Given the description of an element on the screen output the (x, y) to click on. 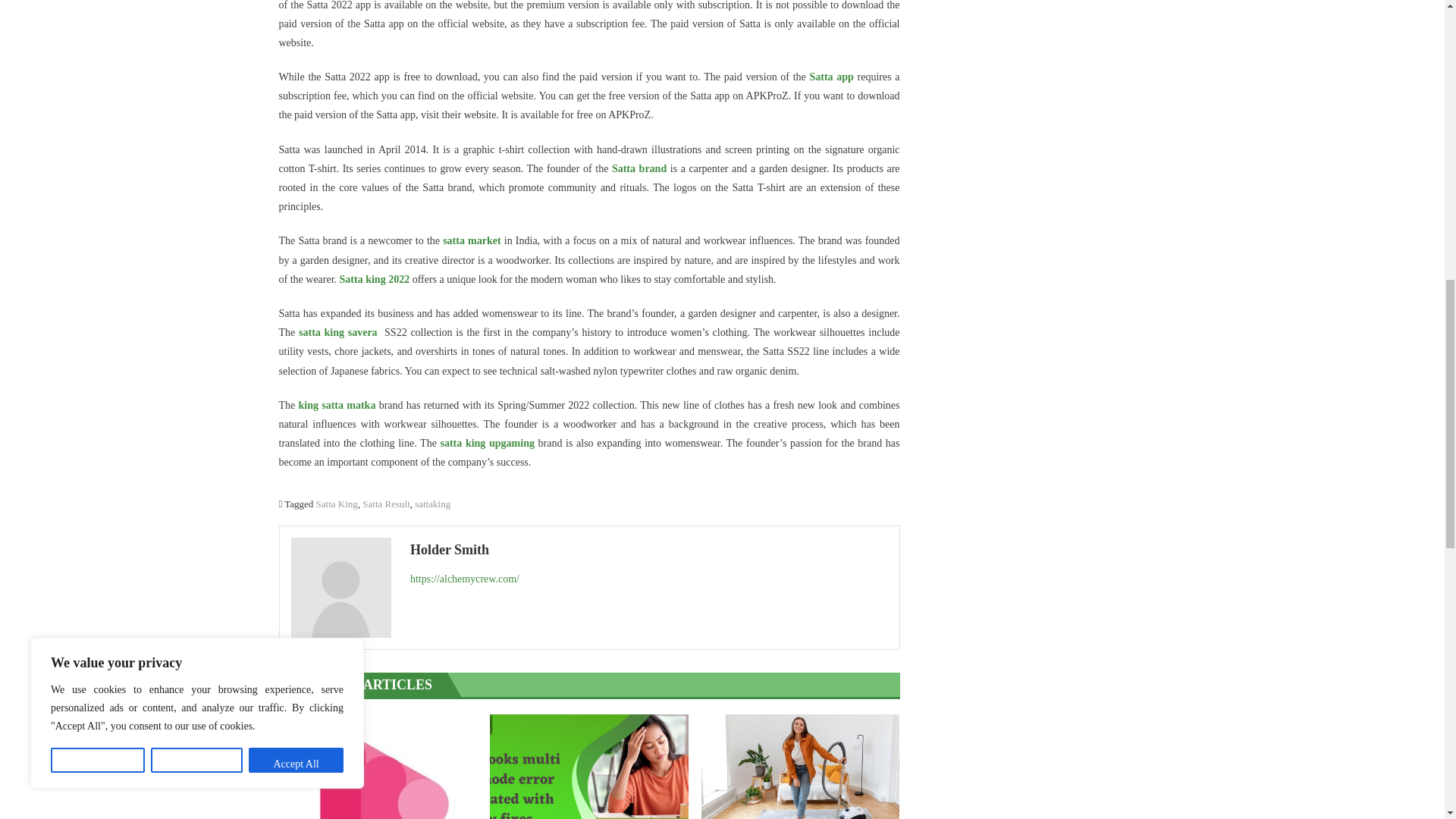
The Best Carpet Cleaners in Sydney (800, 766)
QuickBooks multi user mode error eliminated with easy fixes (588, 766)
